Given the description of an element on the screen output the (x, y) to click on. 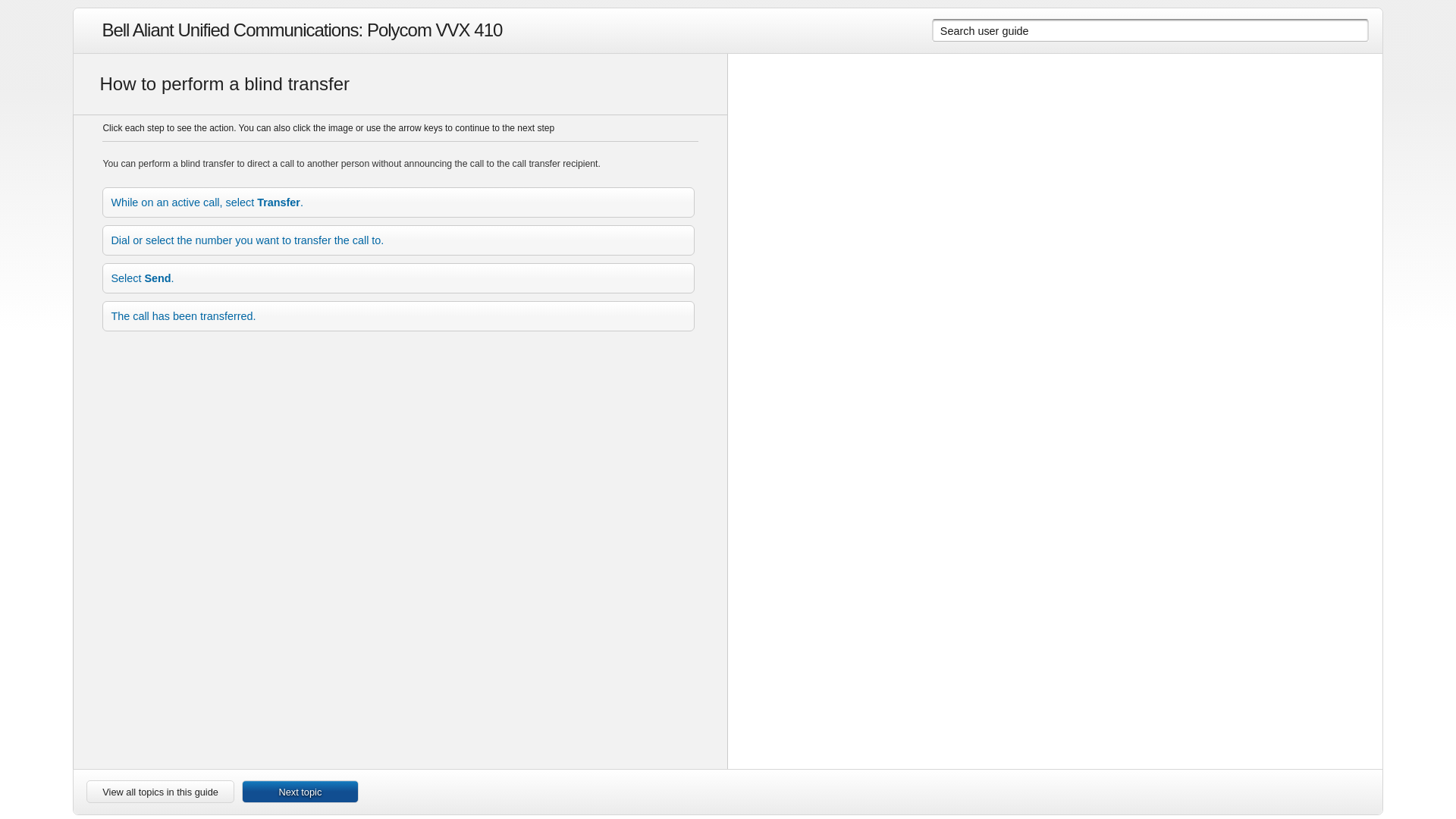
Print (1354, 793)
Next topic (300, 791)
Search (1360, 29)
How to perform a blind transfer (401, 84)
Search user guide (1127, 30)
Search (1360, 29)
View all topics in this guide (159, 791)
Search user guide (1127, 30)
How to perform a consultative transfer (300, 791)
